Given the description of an element on the screen output the (x, y) to click on. 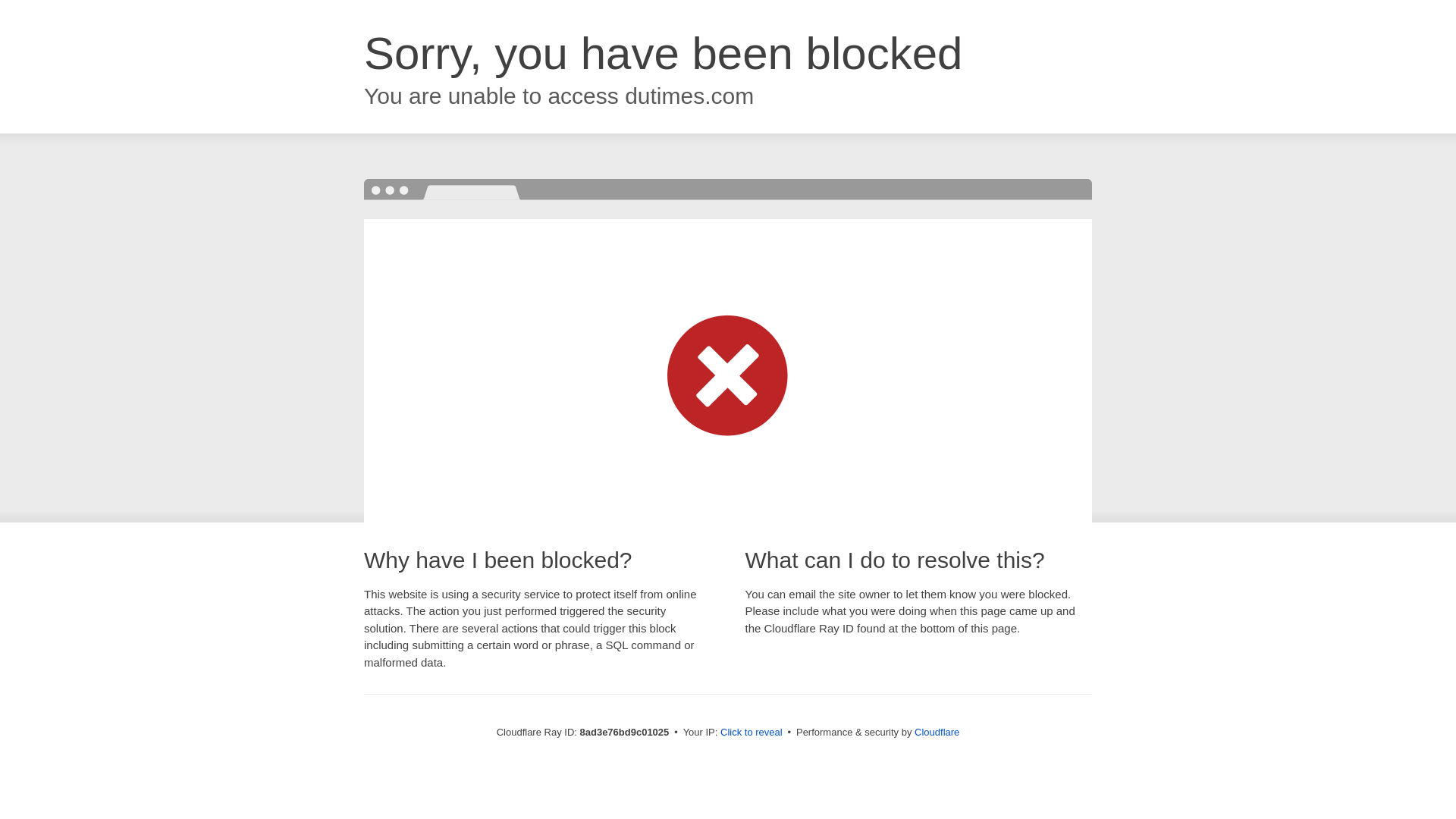
Cloudflare (936, 731)
Click to reveal (751, 732)
